Given the description of an element on the screen output the (x, y) to click on. 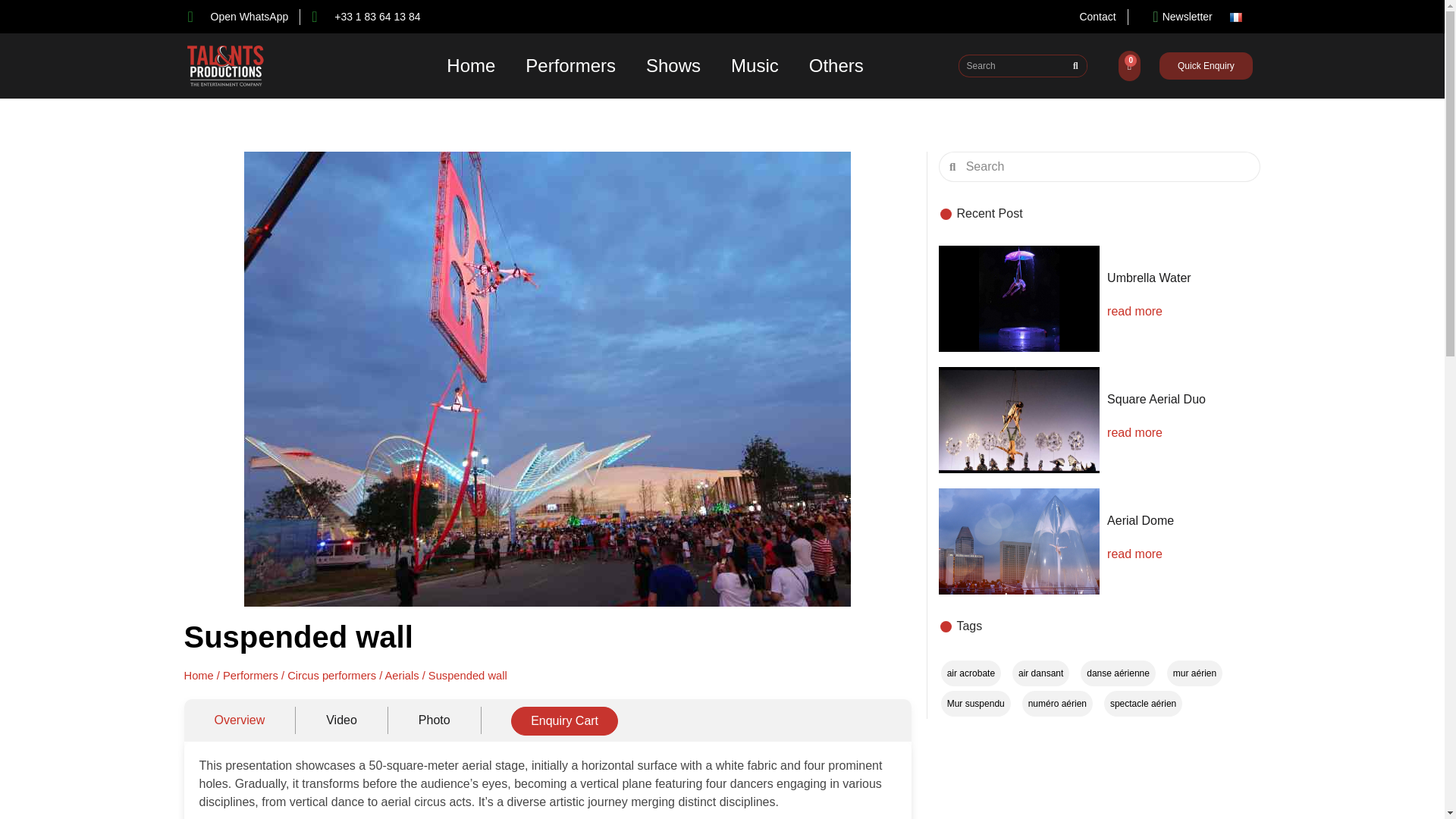
Performers (570, 65)
Home (470, 65)
Open WhatsApp (237, 17)
Newsletter (1176, 17)
Contact (1096, 17)
